Given the description of an element on the screen output the (x, y) to click on. 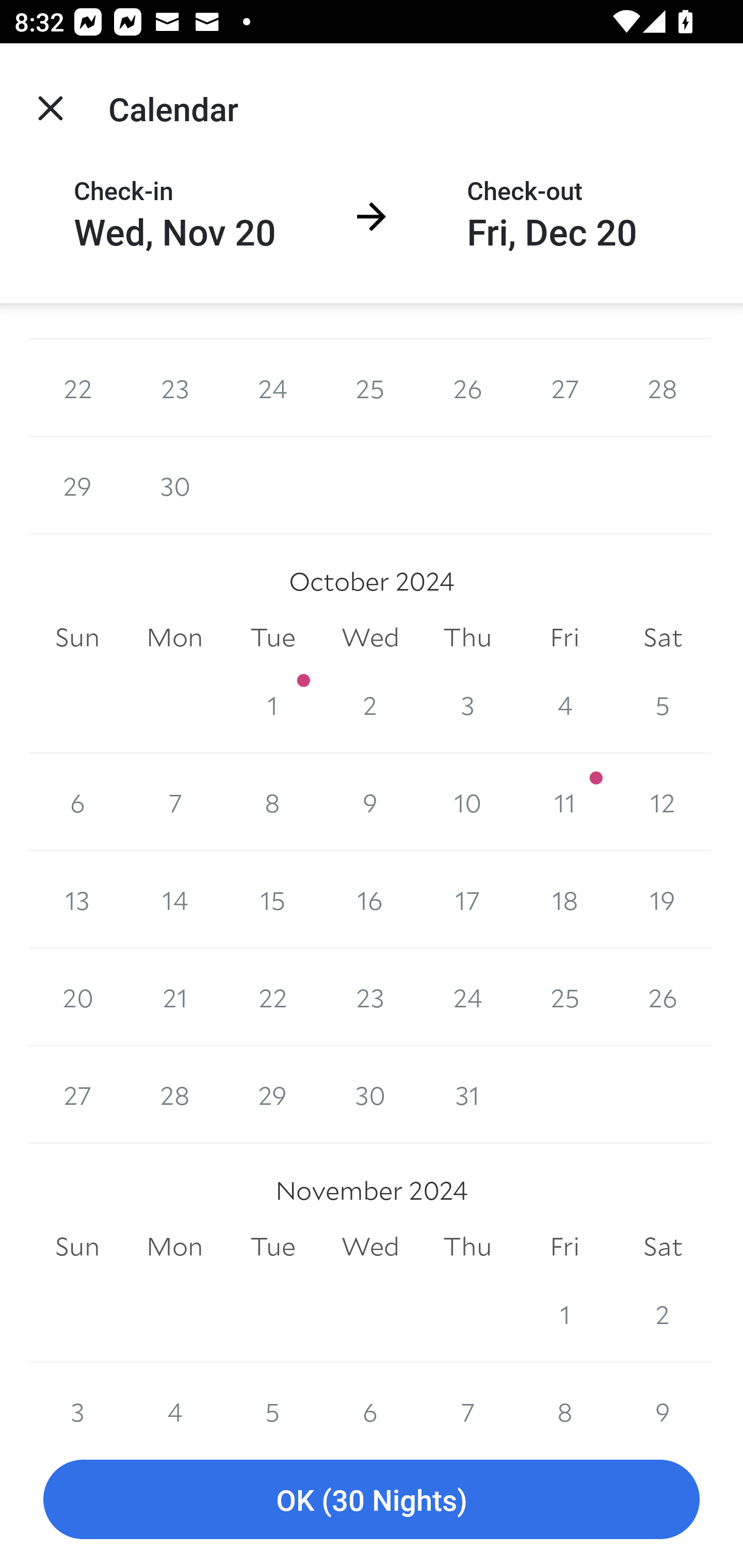
22 22 September 2024 (77, 387)
23 23 September 2024 (174, 387)
24 24 September 2024 (272, 387)
25 25 September 2024 (370, 387)
26 26 September 2024 (467, 387)
27 27 September 2024 (564, 387)
28 28 September 2024 (662, 387)
29 29 September 2024 (77, 485)
30 30 September 2024 (174, 485)
Sun (77, 637)
Mon (174, 637)
Tue (272, 637)
Wed (370, 637)
Thu (467, 637)
Fri (564, 637)
Sat (662, 637)
1 1 October 2024 (272, 704)
2 2 October 2024 (370, 704)
3 3 October 2024 (467, 704)
4 4 October 2024 (564, 704)
5 5 October 2024 (662, 704)
6 6 October 2024 (77, 802)
7 7 October 2024 (174, 802)
8 8 October 2024 (272, 802)
9 9 October 2024 (370, 802)
10 10 October 2024 (467, 802)
11 11 October 2024 (564, 802)
12 12 October 2024 (662, 802)
13 13 October 2024 (77, 899)
14 14 October 2024 (174, 899)
15 15 October 2024 (272, 899)
16 16 October 2024 (370, 899)
17 17 October 2024 (467, 899)
18 18 October 2024 (564, 899)
19 19 October 2024 (662, 899)
20 20 October 2024 (77, 996)
21 21 October 2024 (174, 996)
22 22 October 2024 (272, 996)
23 23 October 2024 (370, 996)
24 24 October 2024 (467, 996)
25 25 October 2024 (564, 996)
26 26 October 2024 (662, 996)
27 27 October 2024 (77, 1094)
28 28 October 2024 (174, 1094)
29 29 October 2024 (272, 1094)
30 30 October 2024 (370, 1094)
31 31 October 2024 (467, 1094)
Sun (77, 1246)
Mon (174, 1246)
Tue (272, 1246)
Wed (370, 1246)
Thu (467, 1246)
Fri (564, 1246)
Sat (662, 1246)
1 1 November 2024 (564, 1313)
2 2 November 2024 (662, 1313)
3 3 November 2024 (77, 1396)
4 4 November 2024 (174, 1396)
5 5 November 2024 (272, 1396)
6 6 November 2024 (370, 1396)
7 7 November 2024 (467, 1396)
8 8 November 2024 (564, 1396)
9 9 November 2024 (662, 1396)
OK (30 Nights) (371, 1499)
